Given the description of an element on the screen output the (x, y) to click on. 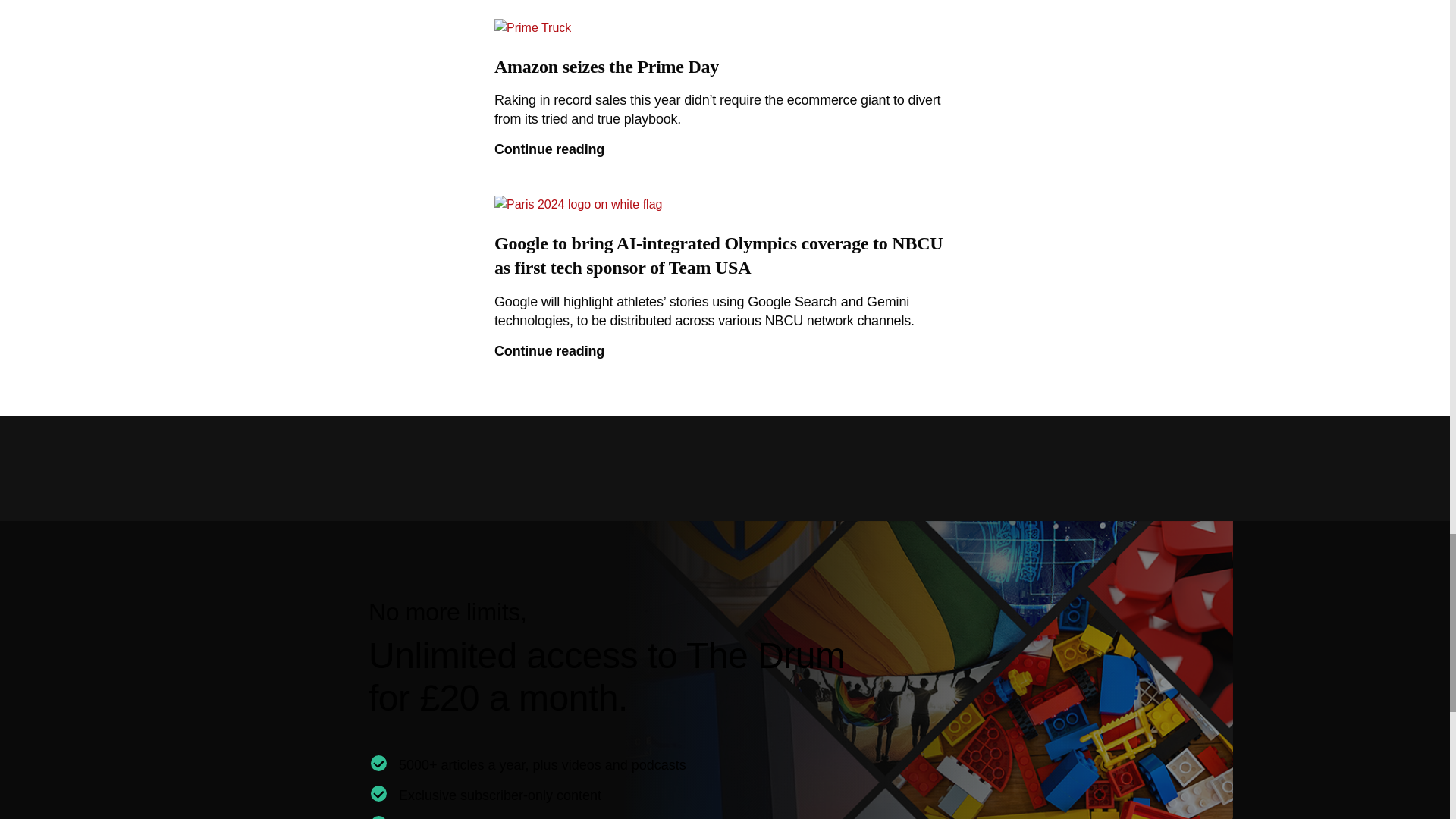
Continue reading (725, 352)
Continue reading (725, 149)
Amazon seizes the Prime Day (725, 72)
